Given the description of an element on the screen output the (x, y) to click on. 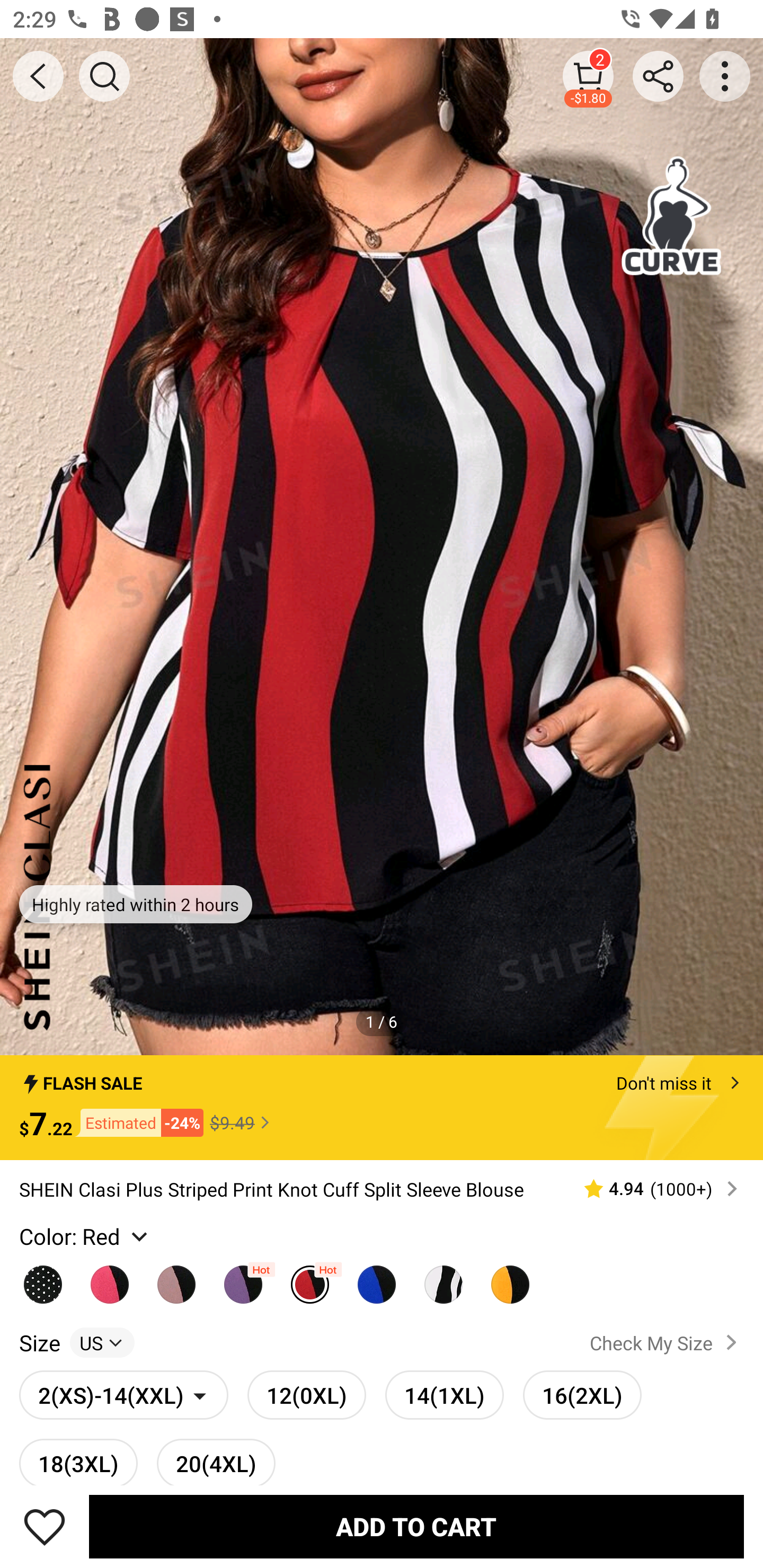
BACK (38, 75)
2 -$1.80 (588, 75)
1 / 6 (381, 1021)
FLASH SALE Don't miss it (381, 1077)
Estimated -24% (137, 1122)
$9.49 (241, 1121)
4.94 (1000‎+) (653, 1188)
Color: Red (85, 1236)
Black (42, 1279)
Multicolor (109, 1279)
Pink (176, 1279)
Purple (242, 1279)
Red (309, 1279)
Royal Blue (376, 1279)
White (443, 1279)
Yellow (509, 1279)
Size (39, 1342)
US (102, 1342)
Check My Size (666, 1342)
2(XS)-14(XXL)  2(XS)-14(XXL) unselected option (123, 1394)
12(0XL) 12(0XL)unselected option (306, 1394)
14(1XL) 14(1XL)unselected option (444, 1394)
16(2XL) 16(2XL)unselected option (581, 1394)
18(3XL) 18(3XL)unselected option (78, 1461)
20(4XL) 20(4XL)unselected option (216, 1461)
ADD TO CART (416, 1526)
Save (44, 1526)
